Given the description of an element on the screen output the (x, y) to click on. 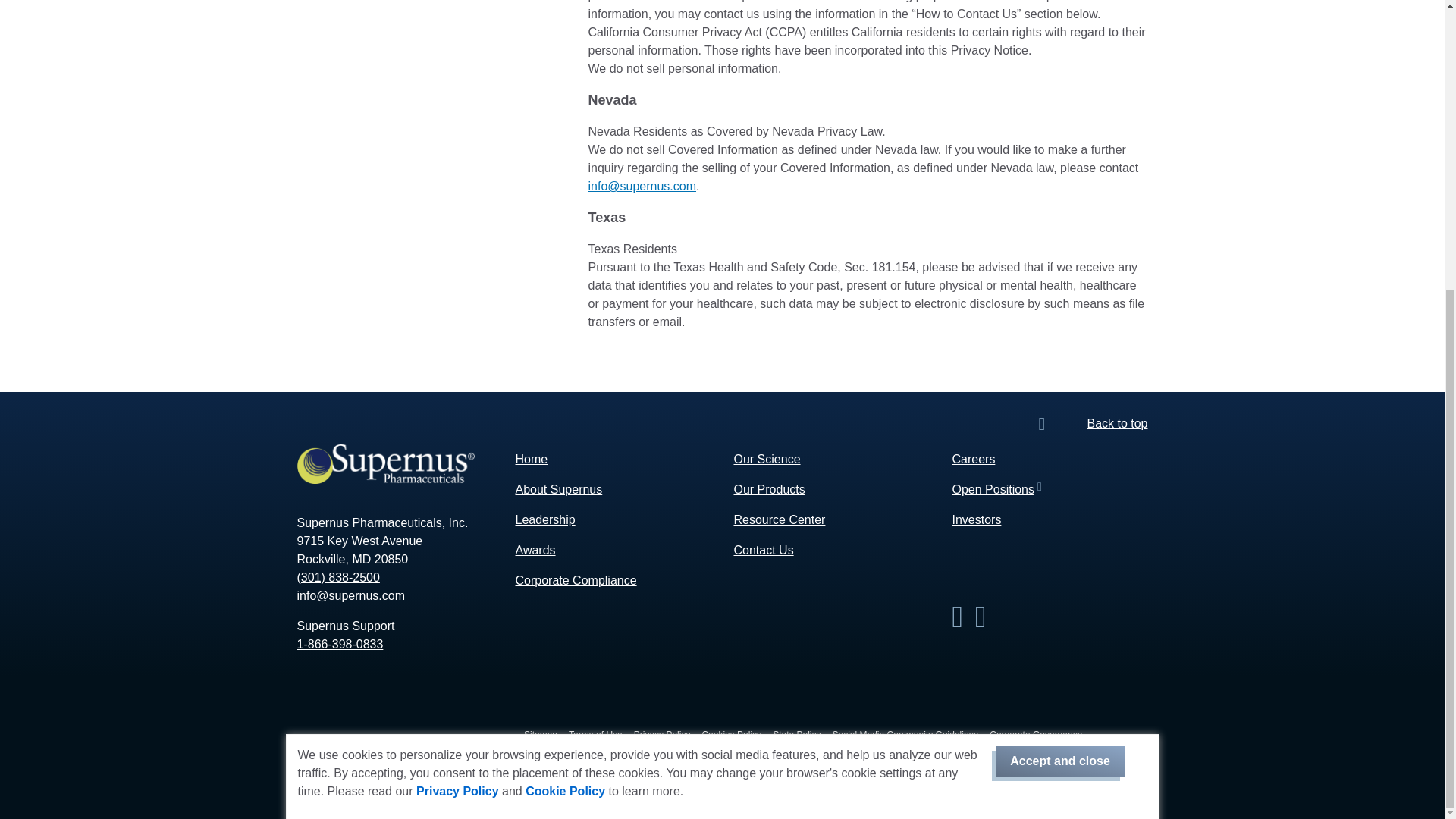
Accept and close (1059, 320)
Cookie Policy (565, 350)
Home (531, 459)
About Supernus (558, 490)
Back to top (1116, 422)
Privacy Policy (457, 350)
1-866-398-0833 (340, 644)
